Given the description of an element on the screen output the (x, y) to click on. 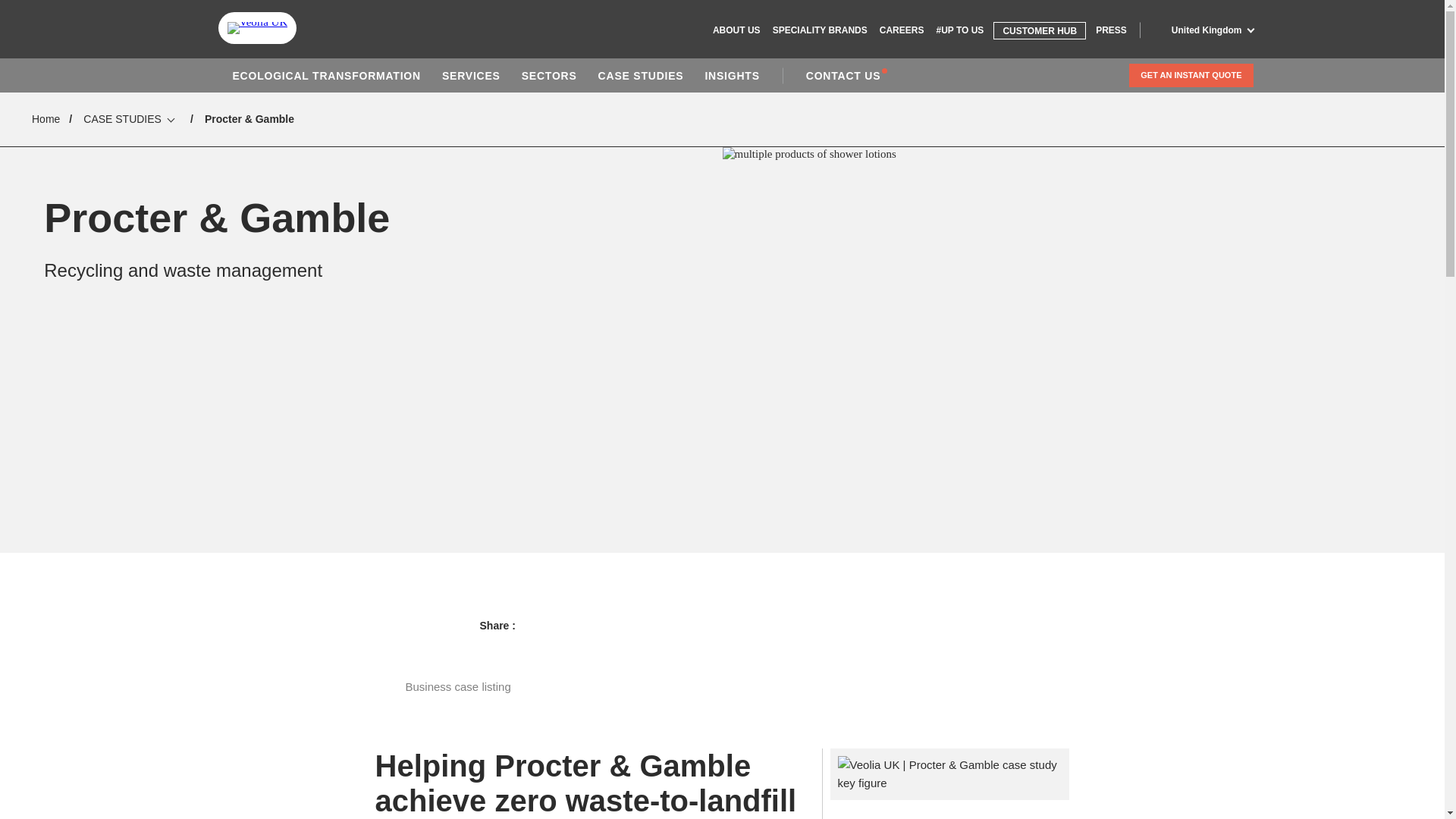
About us (736, 29)
Veolia UK (257, 28)
ABOUT US (736, 29)
